Given the description of an element on the screen output the (x, y) to click on. 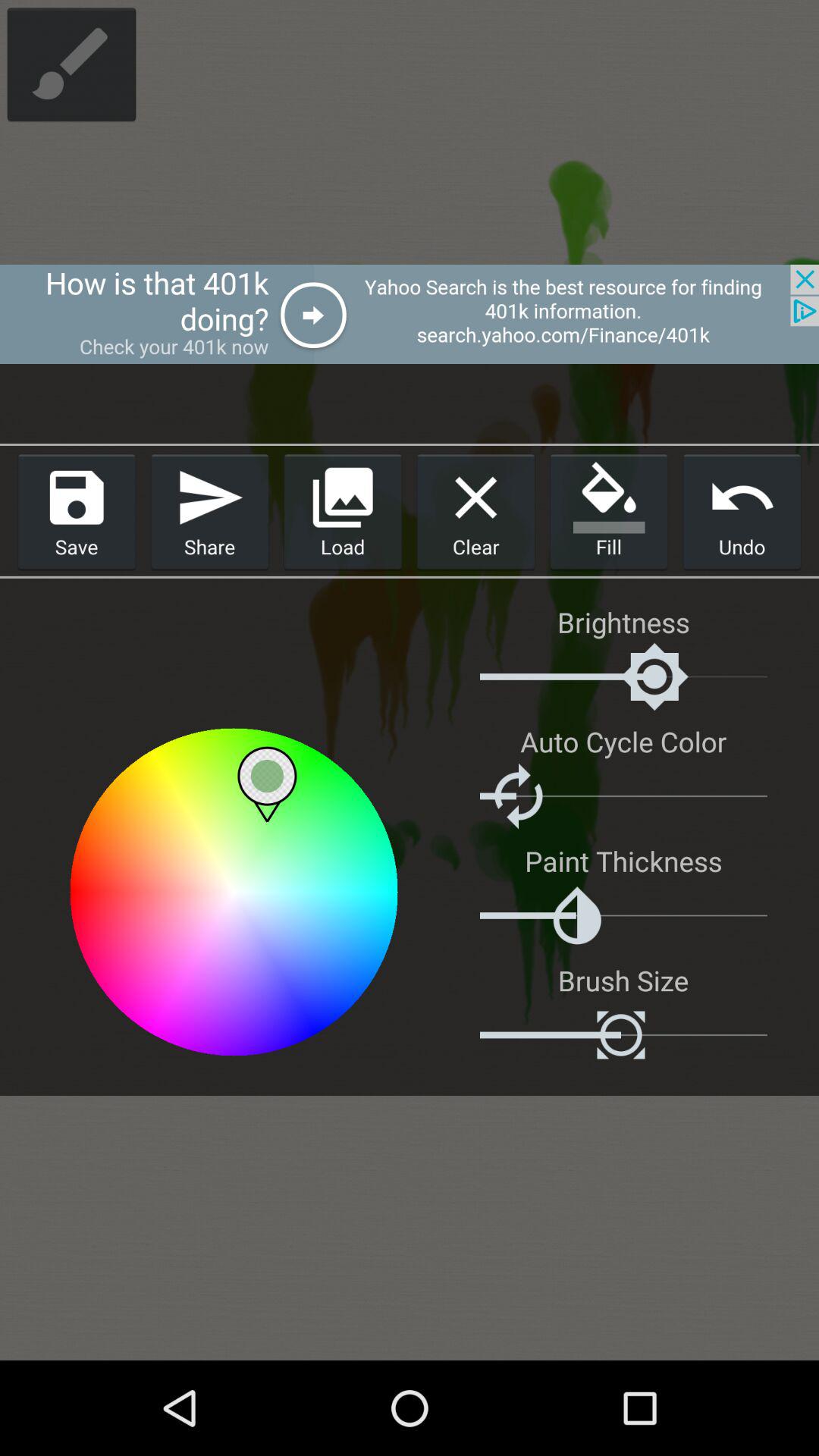
upper advertisement bar (409, 314)
